Given the description of an element on the screen output the (x, y) to click on. 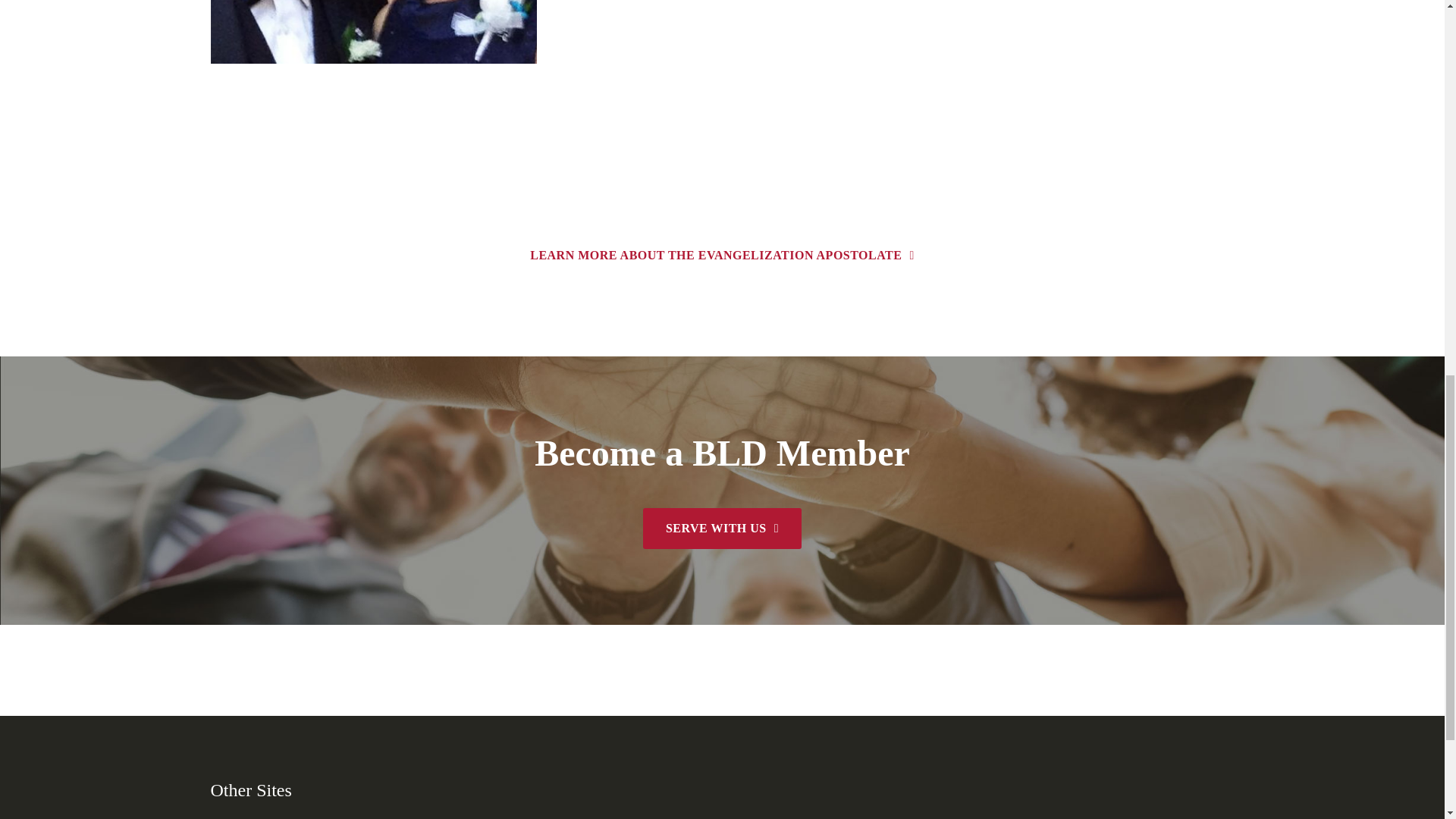
LEARN MORE ABOUT THE EVANGELIZATION APOSTOLATE (721, 255)
SERVE WITH US (722, 527)
Contact (721, 255)
